Given the description of an element on the screen output the (x, y) to click on. 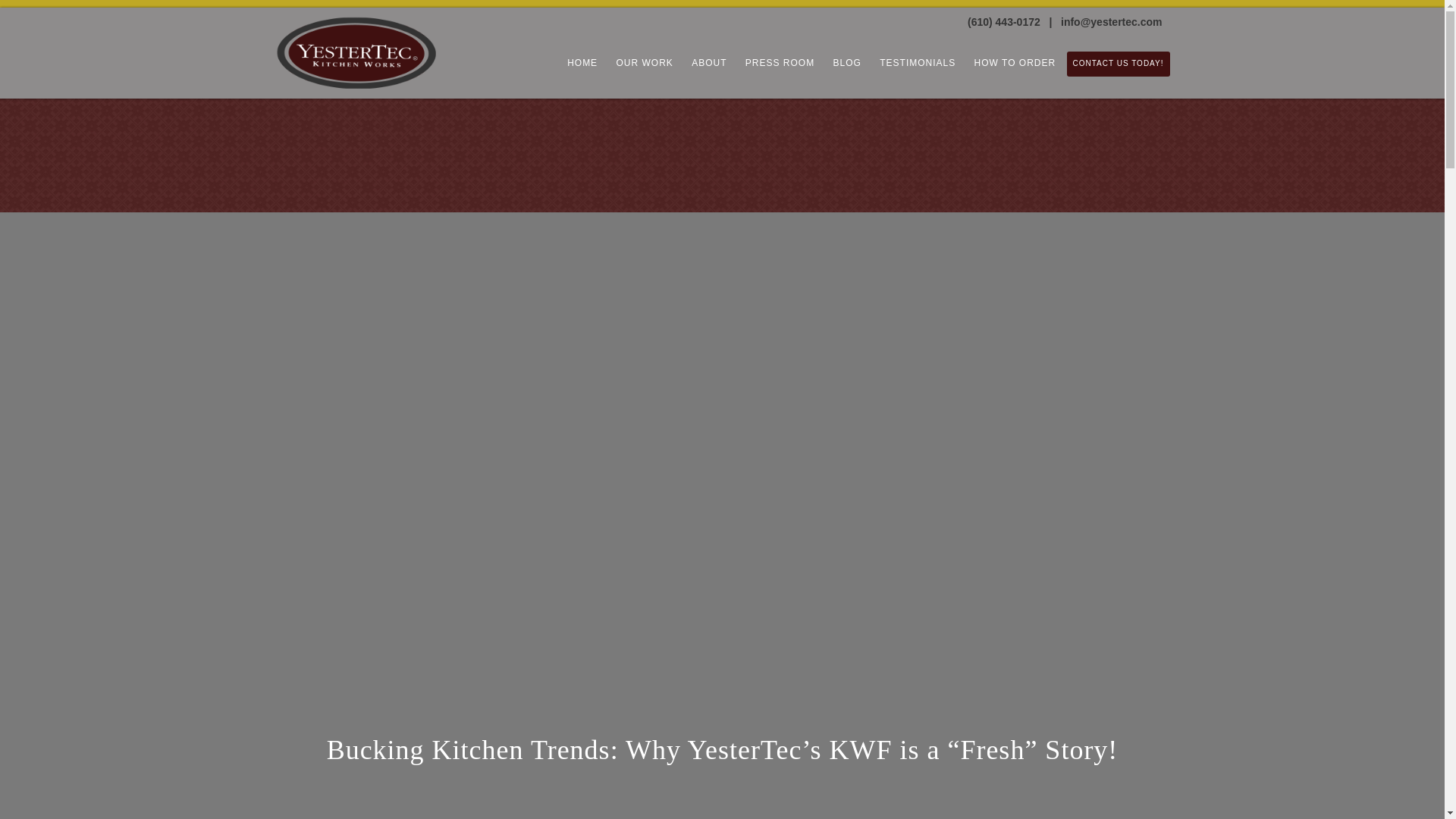
BLOG (847, 63)
CONTACT US TODAY! (1118, 63)
ABOUT (708, 63)
OUR WORK (643, 63)
HOW TO ORDER (1015, 63)
HOME (582, 63)
PRESS ROOM (780, 63)
TESTIMONIALS (917, 63)
